Given the description of an element on the screen output the (x, y) to click on. 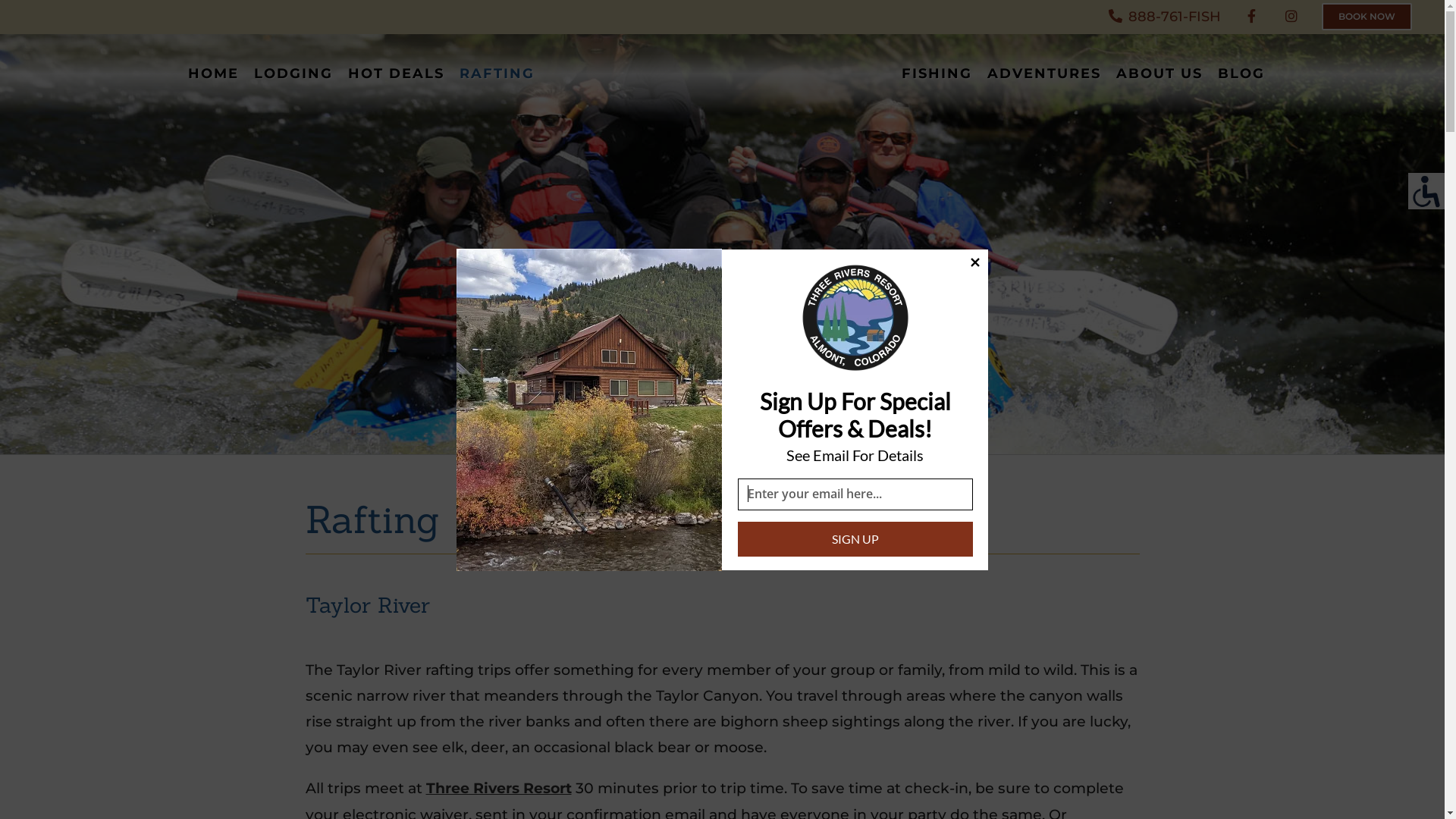
ADVENTURES Element type: text (1043, 73)
FISHING Element type: text (936, 73)
Accessibility Helper sidebar Element type: hover (1426, 190)
LODGING Element type: text (293, 73)
HOME Element type: text (213, 73)
SIGN UP Element type: text (854, 538)
Close Element type: hover (974, 261)
RAFTING Element type: text (496, 73)
Facebook (opens in a new window) Element type: hover (1250, 16)
BOOK NOW Element type: text (1366, 16)
Instagram (opens in a new window) Element type: hover (1291, 16)
HOT DEALS Element type: text (395, 73)
ABOUT US Element type: text (1159, 73)
Three Rivers Resort Element type: text (498, 788)
888-761-FISH Element type: text (1164, 16)
BLOG Element type: text (1241, 73)
